Given the description of an element on the screen output the (x, y) to click on. 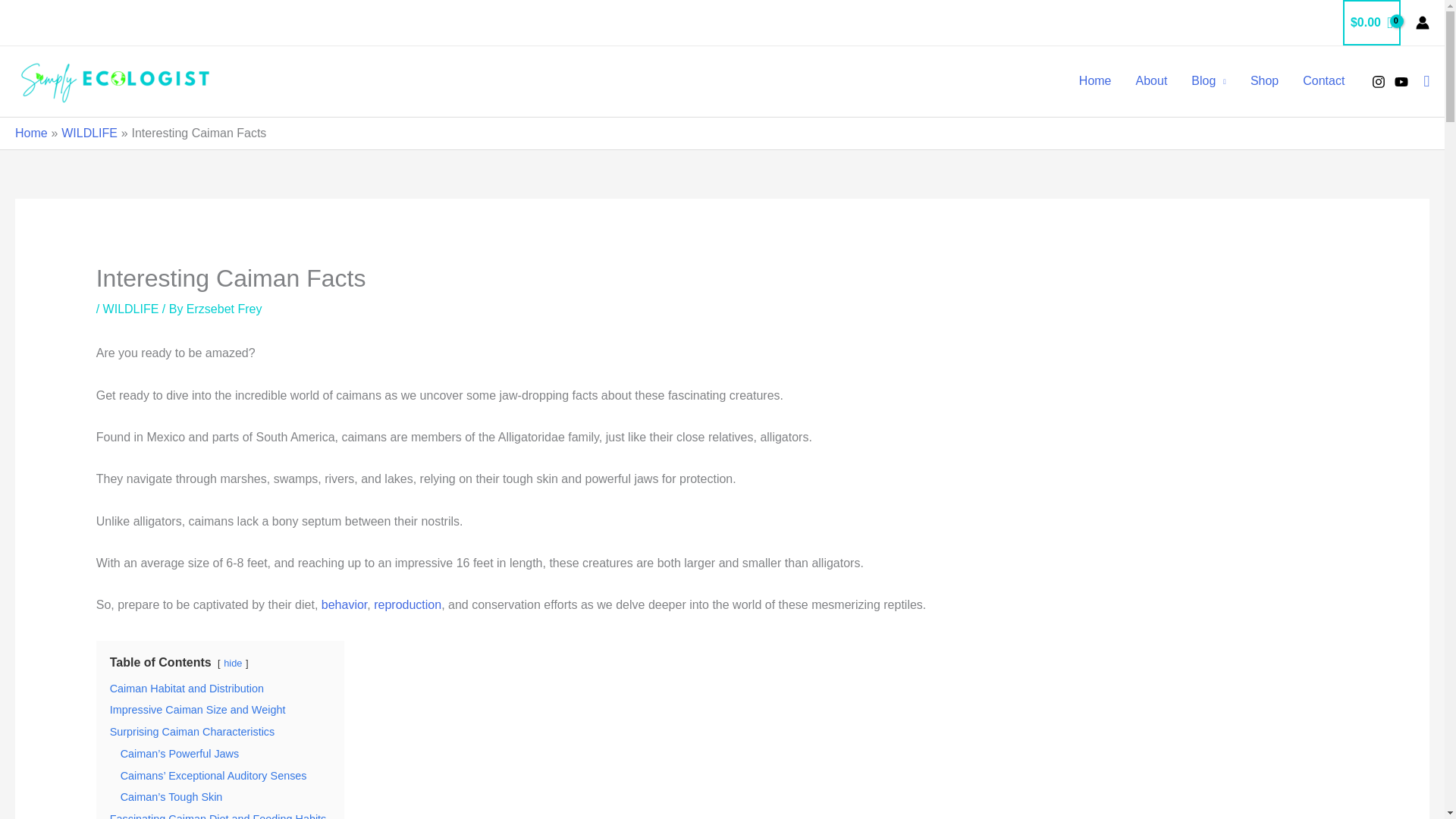
About (1151, 80)
Home (1095, 80)
View all posts by Erzsebet Frey (224, 308)
Blog (1209, 80)
Shop (1264, 80)
Contact (1323, 80)
Home (31, 132)
